Given the description of an element on the screen output the (x, y) to click on. 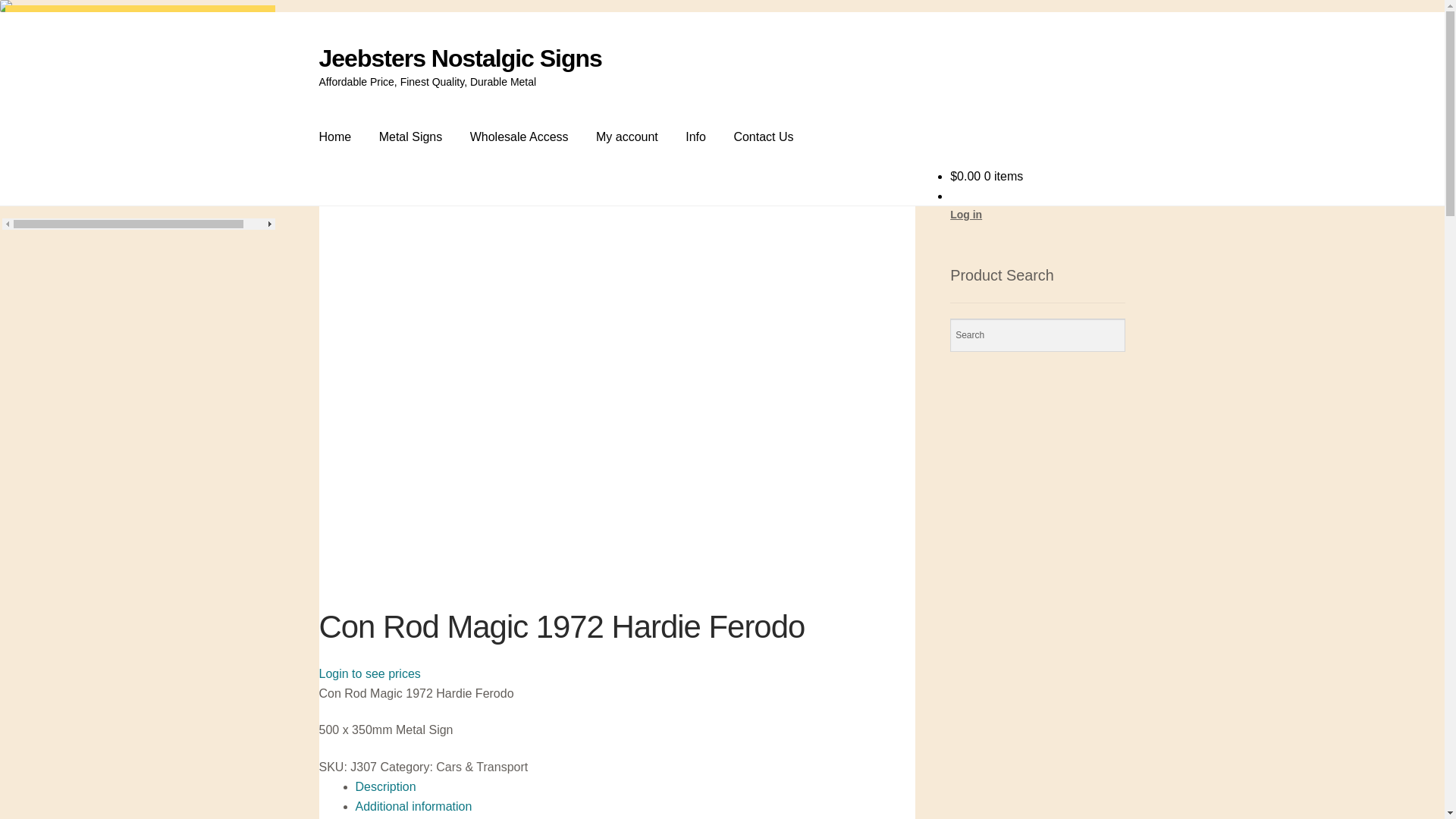
Home Element type: text (335, 136)
Login to see prices Element type: text (369, 673)
Skip to navigation Element type: text (318, 43)
My account Element type: text (626, 136)
Description Element type: text (385, 786)
$0.00 0 items Element type: text (986, 175)
Metal Signs Element type: text (411, 136)
Info Element type: text (695, 136)
Log in Element type: text (966, 214)
Additional information Element type: text (413, 806)
Jeebsters Nostalgic Signs Element type: text (460, 58)
Contact Us Element type: text (763, 136)
Wholesale Access Element type: text (519, 136)
Cars & Transport Element type: text (481, 766)
